Given the description of an element on the screen output the (x, y) to click on. 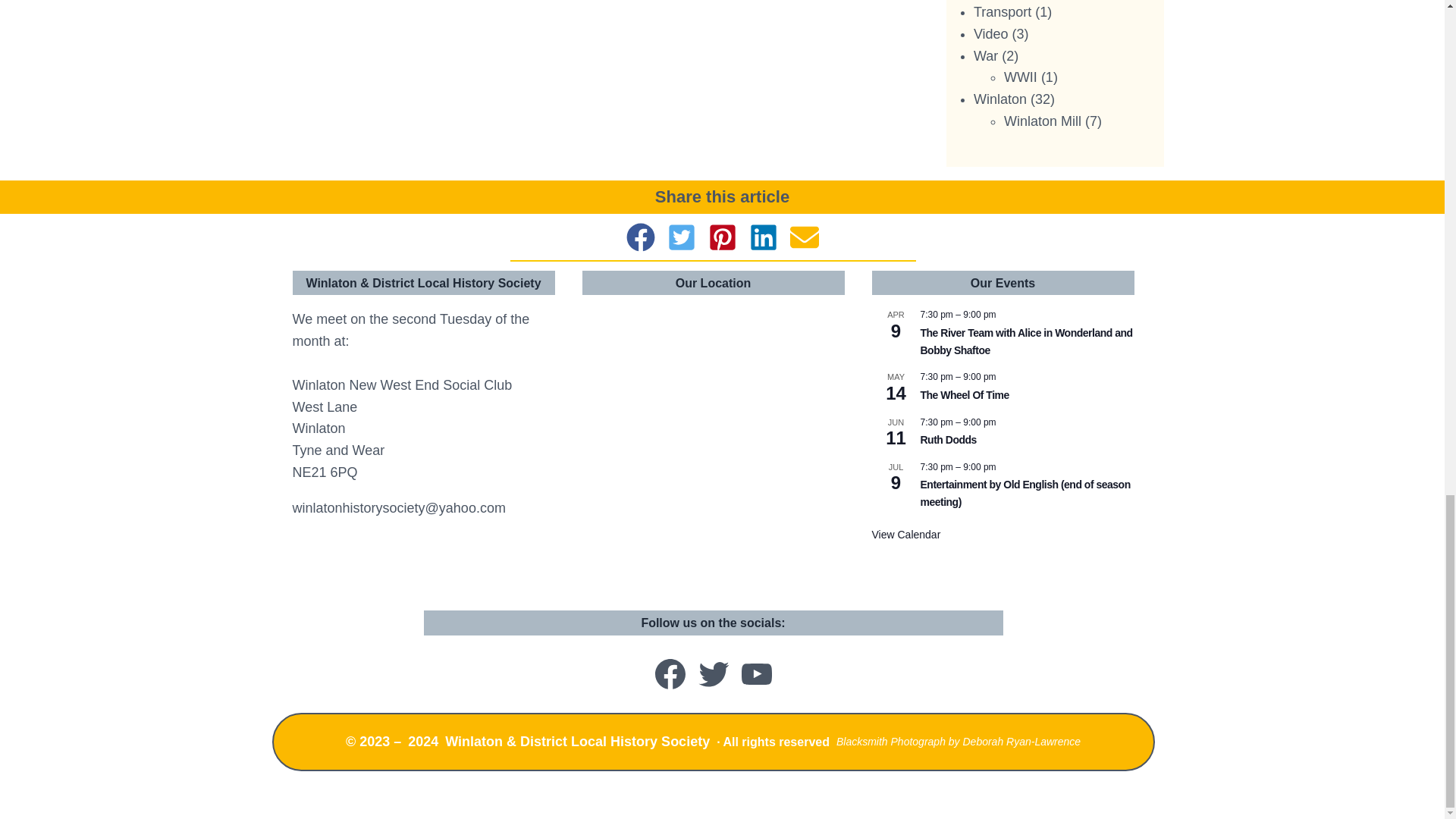
The River Team with Alice in Wonderland and Bobby Shaftoe (1026, 341)
View more events. (906, 534)
Google Map for  (713, 445)
The Wheel Of Time (964, 395)
Ruth Dodds (948, 440)
